Given the description of an element on the screen output the (x, y) to click on. 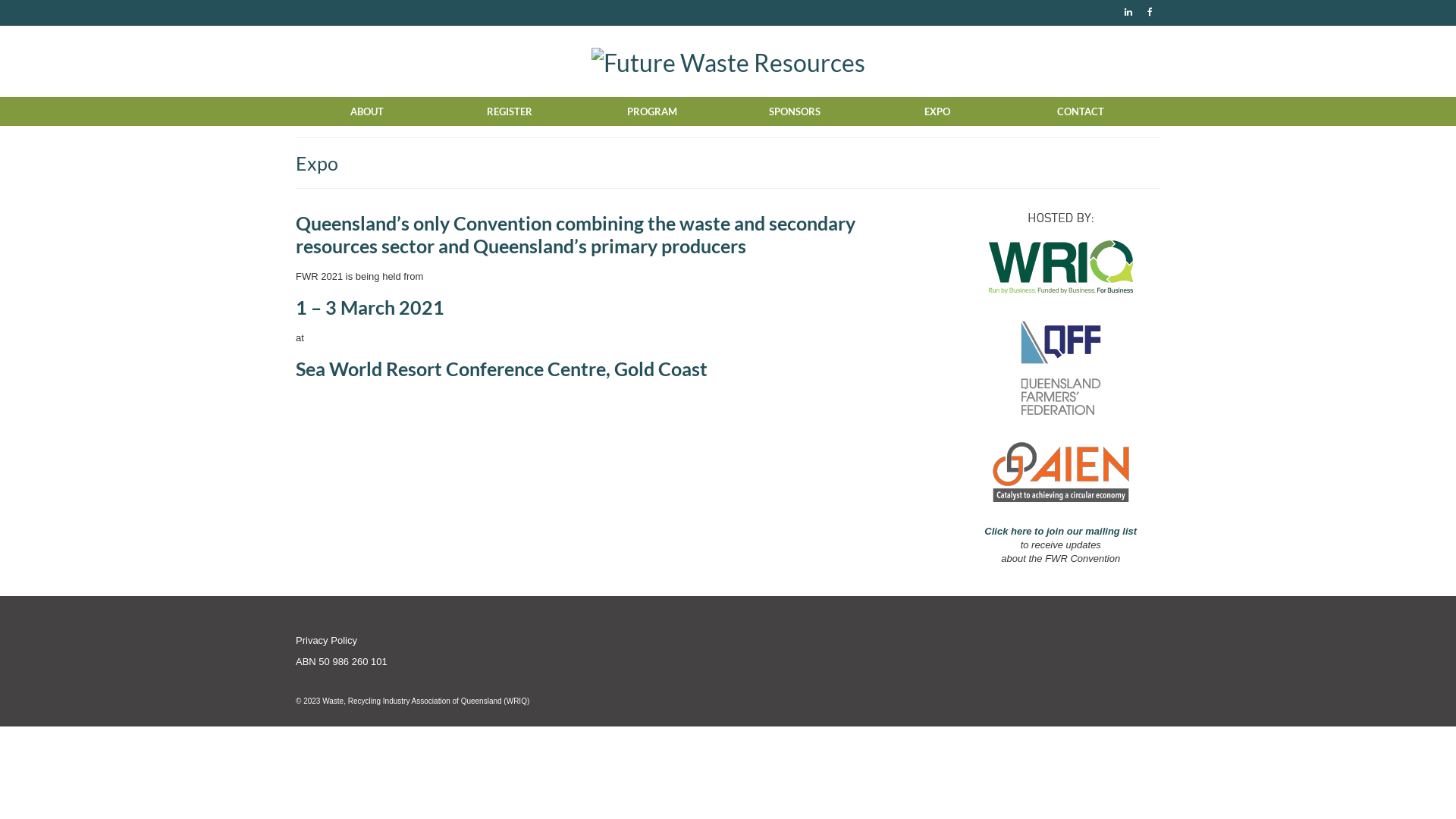
Click here to join our mailing list Element type: text (1060, 530)
PROGRAM Element type: text (651, 111)
REGISTER Element type: text (509, 111)
EXPO Element type: text (937, 111)
ABOUT Element type: text (366, 111)
SPONSORS Element type: text (794, 111)
CONTACT Element type: text (1079, 111)
Privacy Policy Element type: text (326, 640)
